Given the description of an element on the screen output the (x, y) to click on. 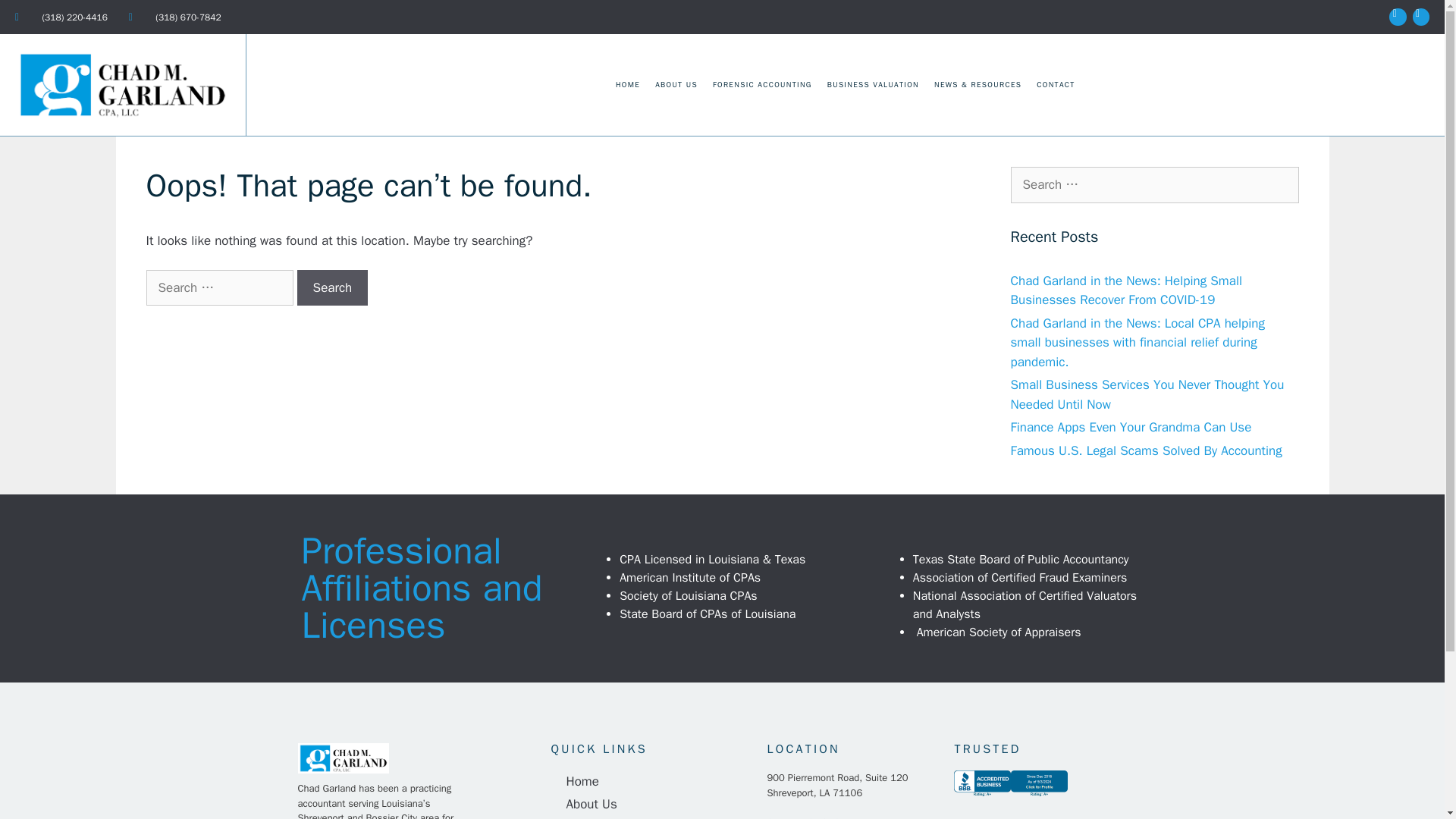
HOME (627, 84)
Famous U.S. Legal Scams Solved By Accounting (1145, 450)
Search for: (218, 288)
Search (35, 18)
Search for: (1154, 185)
FORENSIC ACCOUNTING (761, 84)
Search (332, 288)
BUSINESS VALUATION (872, 84)
